Given the description of an element on the screen output the (x, y) to click on. 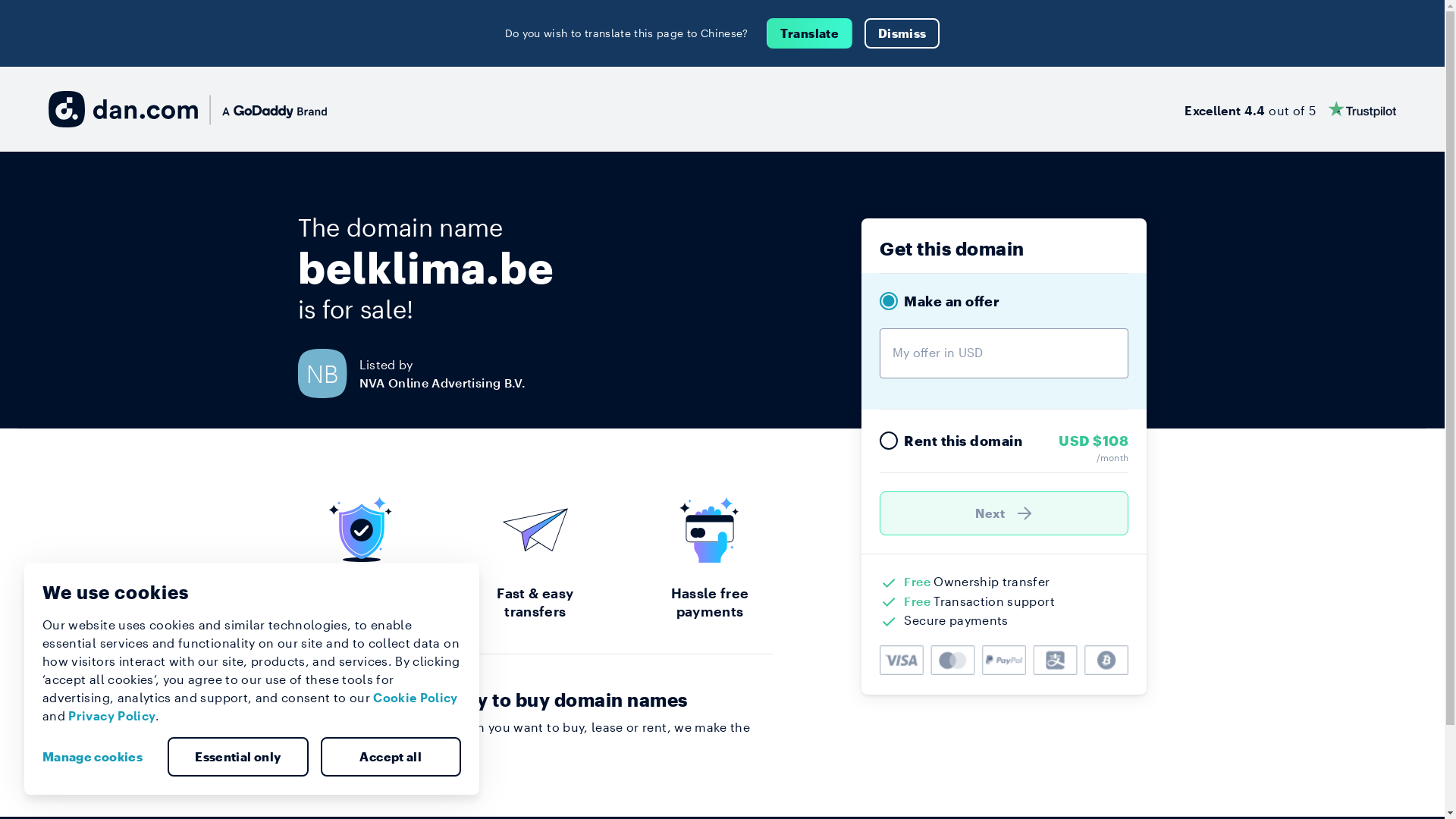
Translate Element type: text (809, 33)
Manage cookies Element type: text (98, 756)
Essential only Element type: text (237, 756)
Excellent 4.4 out of 5 Element type: text (1290, 109)
Cookie Policy Element type: text (415, 697)
Accept all Element type: text (390, 756)
Privacy Policy Element type: text (111, 715)
Next
) Element type: text (1003, 513)
Dismiss Element type: text (901, 33)
